Given the description of an element on the screen output the (x, y) to click on. 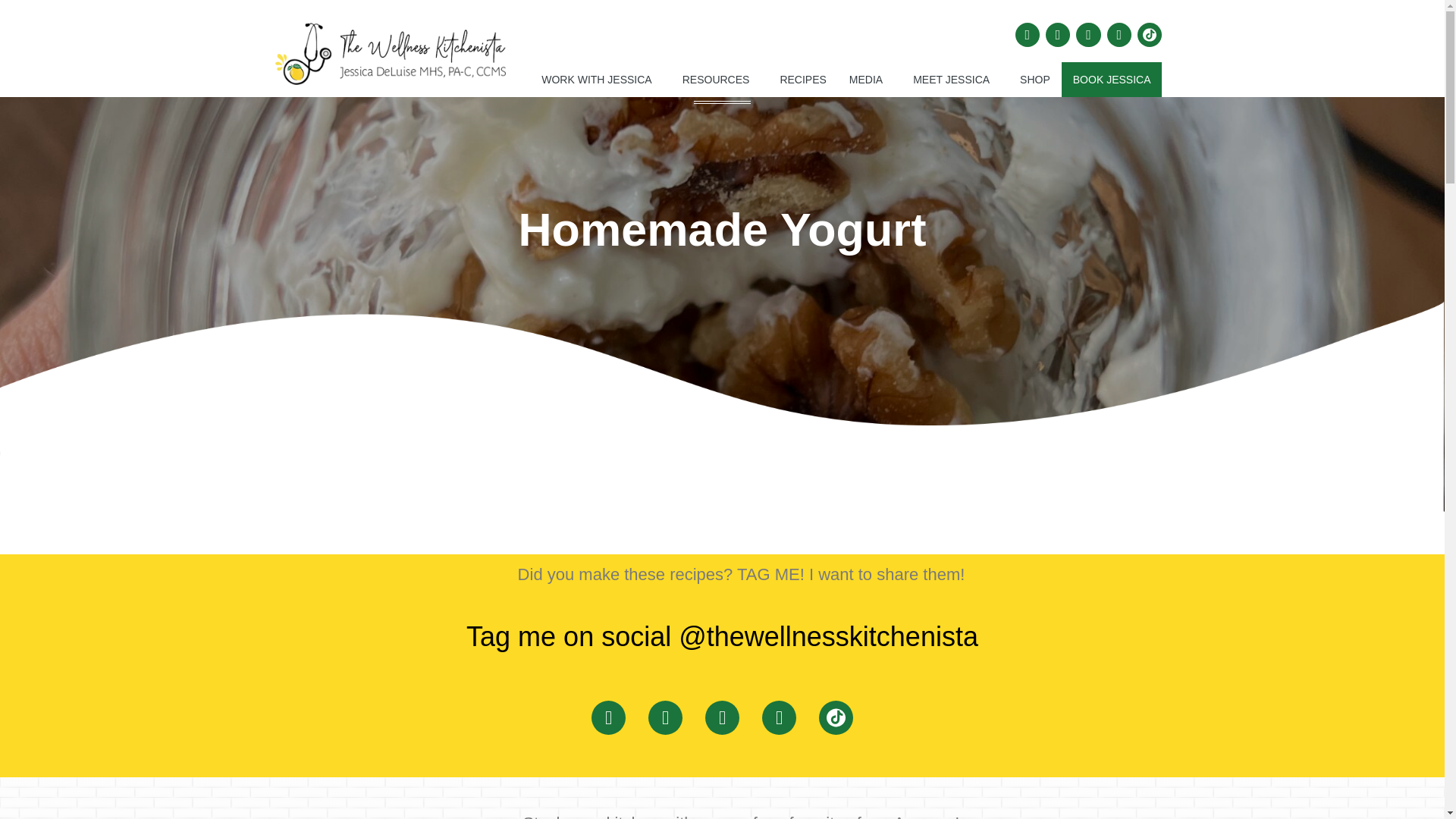
MEDIA (869, 79)
MEET JESSICA (955, 79)
SHOP (1035, 79)
RECIPES (802, 79)
RESOURCES (719, 79)
WORK WITH JESSICA (599, 79)
BOOK JESSICA (1111, 79)
